Given the description of an element on the screen output the (x, y) to click on. 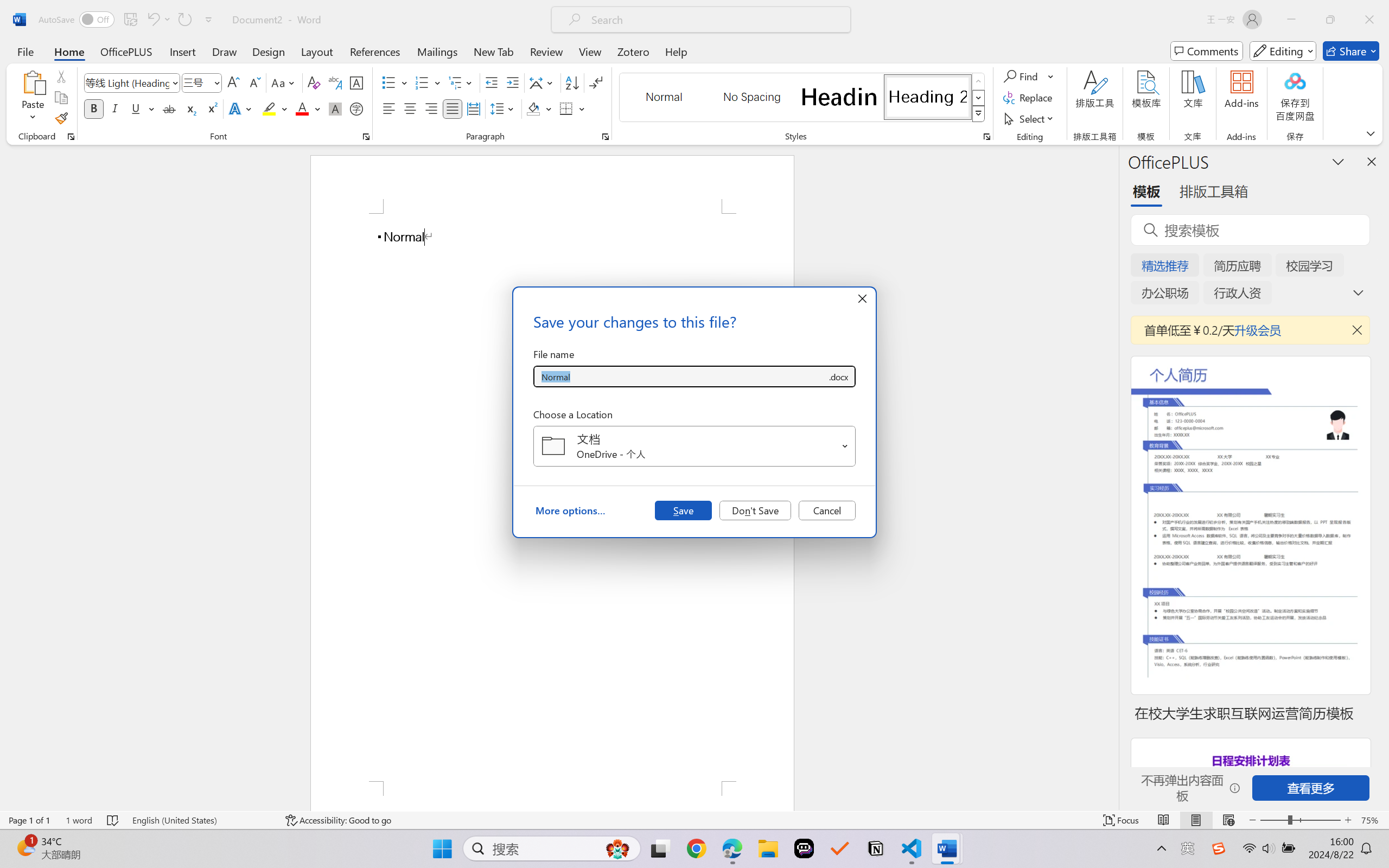
Repeat Typing (184, 19)
Minimize (1291, 19)
Don't Save (755, 509)
Cancel (826, 509)
AutomationID: QuickStylesGallery (802, 97)
Character Shading (334, 108)
Google Chrome (696, 848)
Borders (566, 108)
Word Count 1 word (78, 819)
Decrease Indent (491, 82)
Design (268, 51)
AutomationID: BadgeAnchorLargeTicker (24, 847)
More Options (1051, 75)
